Given the description of an element on the screen output the (x, y) to click on. 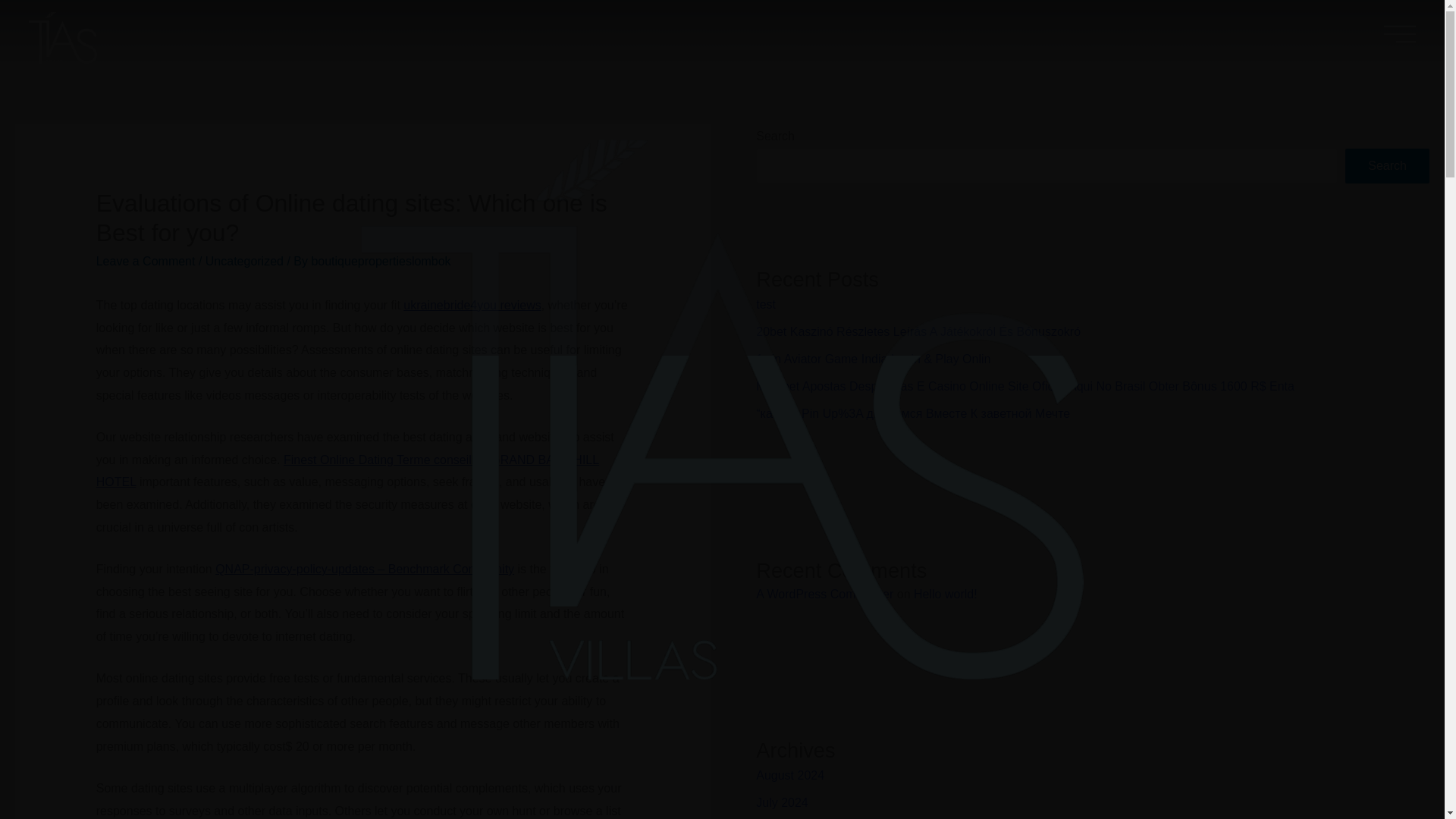
July 2024 (781, 802)
A WordPress Commenter (824, 594)
Search (1387, 165)
ukrainebride4you reviews (471, 305)
test (765, 304)
boutiquepropertieslombok (380, 260)
August 2024 (789, 775)
View all posts by boutiquepropertieslombok (380, 260)
Leave a Comment (145, 260)
Hello world! (945, 594)
